Given the description of an element on the screen output the (x, y) to click on. 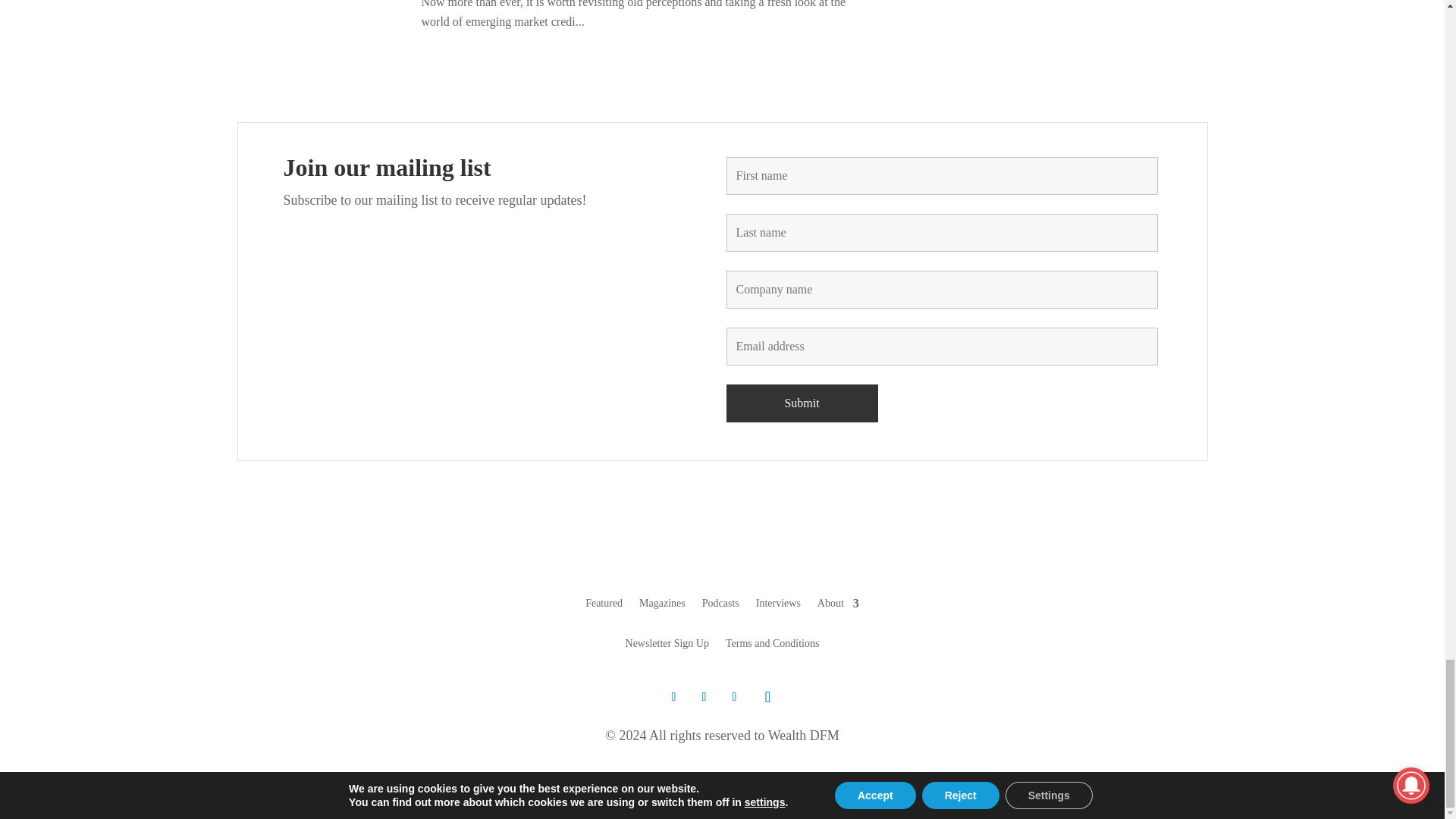
Follow on LinkedIn (733, 696)
Follow on X (673, 696)
Follow on Facebook (703, 696)
Follow on Instagram (767, 696)
Submit (801, 403)
